Given the description of an element on the screen output the (x, y) to click on. 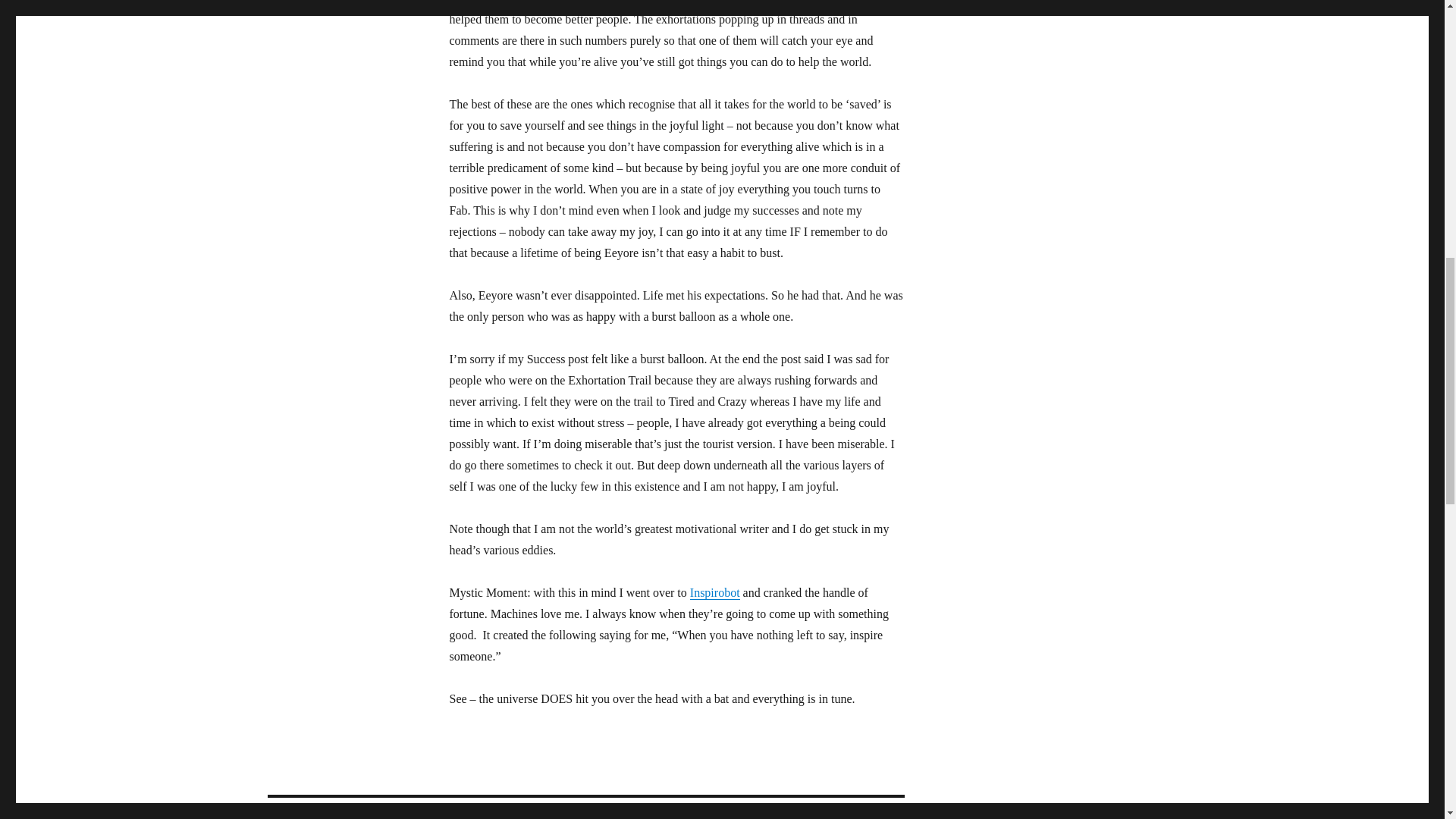
Inspirobot (714, 592)
